Given the description of an element on the screen output the (x, y) to click on. 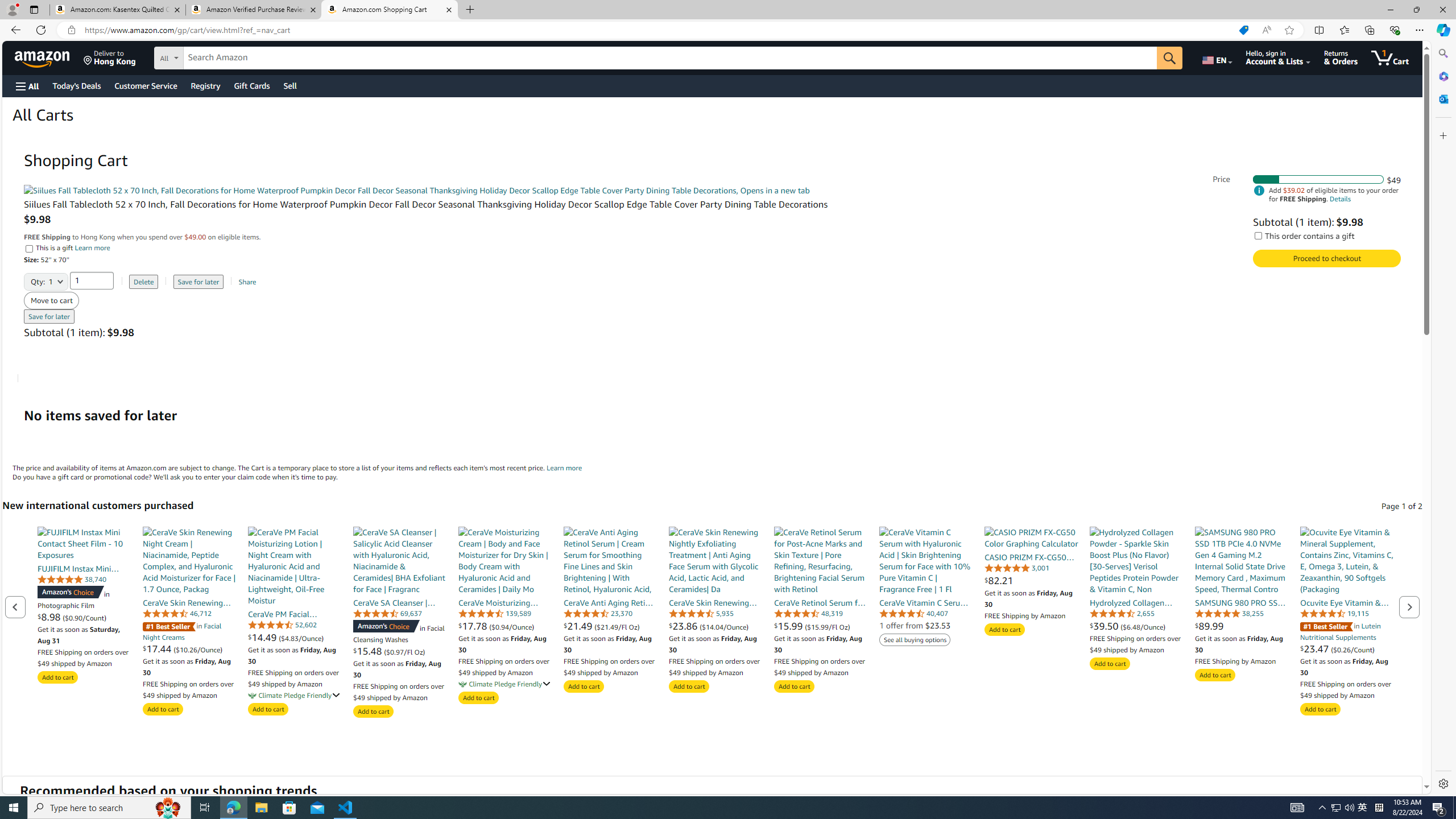
($15.99/Fl Oz) (827, 626)
This order contains a gift (1258, 235)
Add to cart (1319, 709)
Open Menu (26, 86)
Registry (205, 85)
Go (1169, 57)
Search in (210, 56)
$8.98  (49, 616)
Proceed to checkout Check out Amazon Cart (1326, 258)
